Given the description of an element on the screen output the (x, y) to click on. 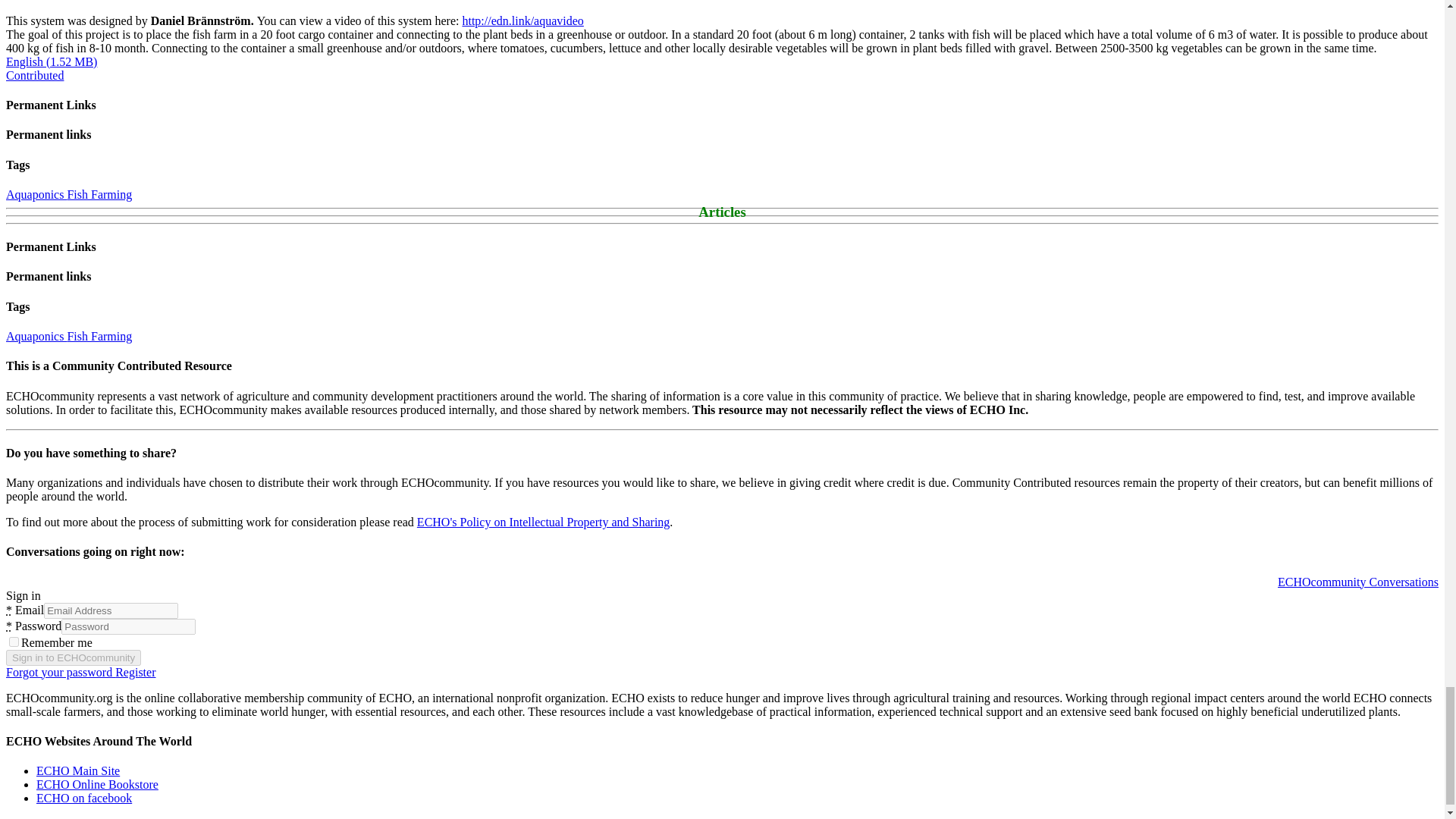
Fish Farming (99, 336)
Fish Farming (99, 194)
Aquaponics (35, 336)
Aquaponics (35, 194)
Sign in to ECHOcommunity (73, 657)
1 (13, 642)
